Given the description of an element on the screen output the (x, y) to click on. 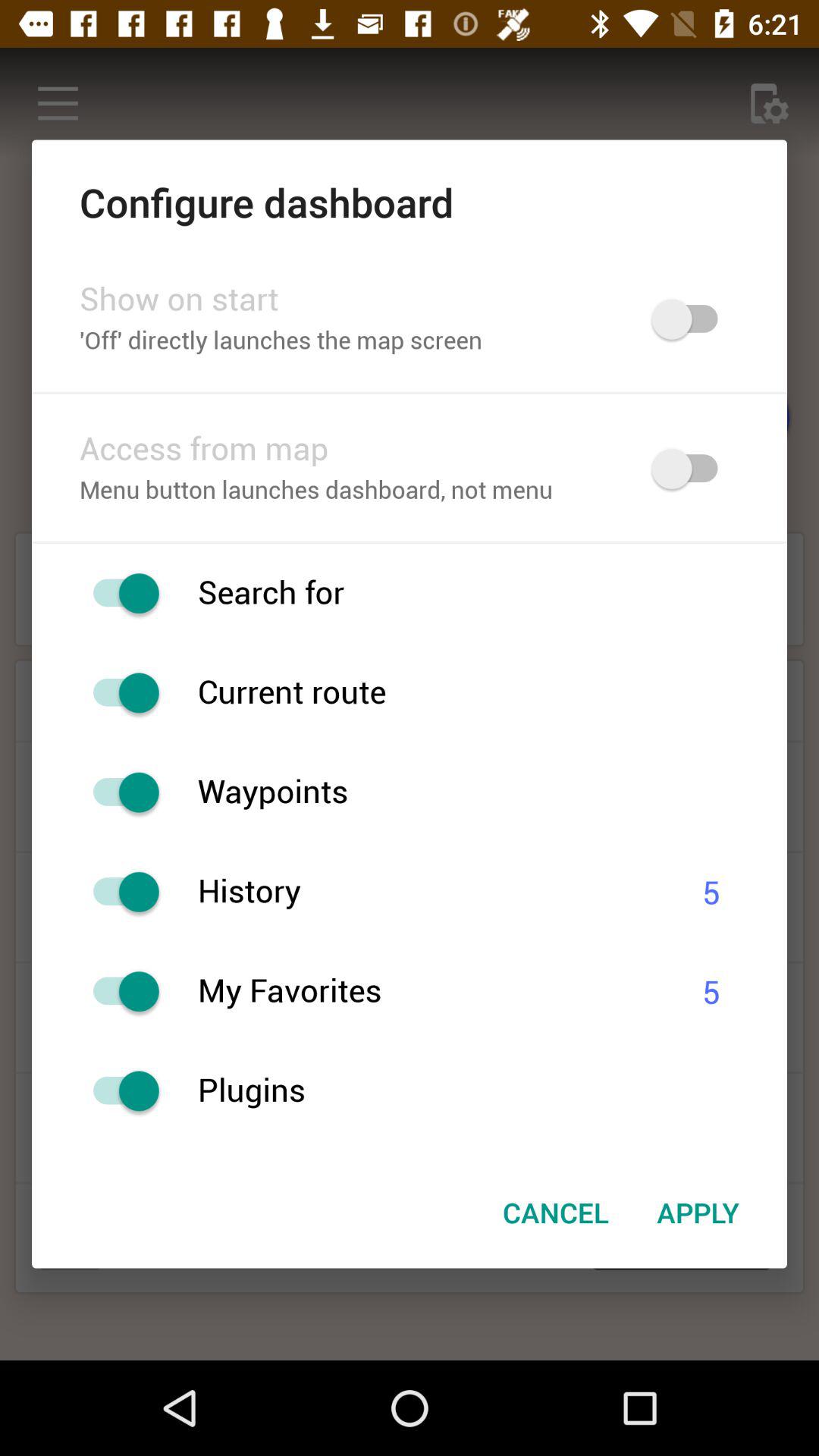
toggle waypoints (118, 792)
